Given the description of an element on the screen output the (x, y) to click on. 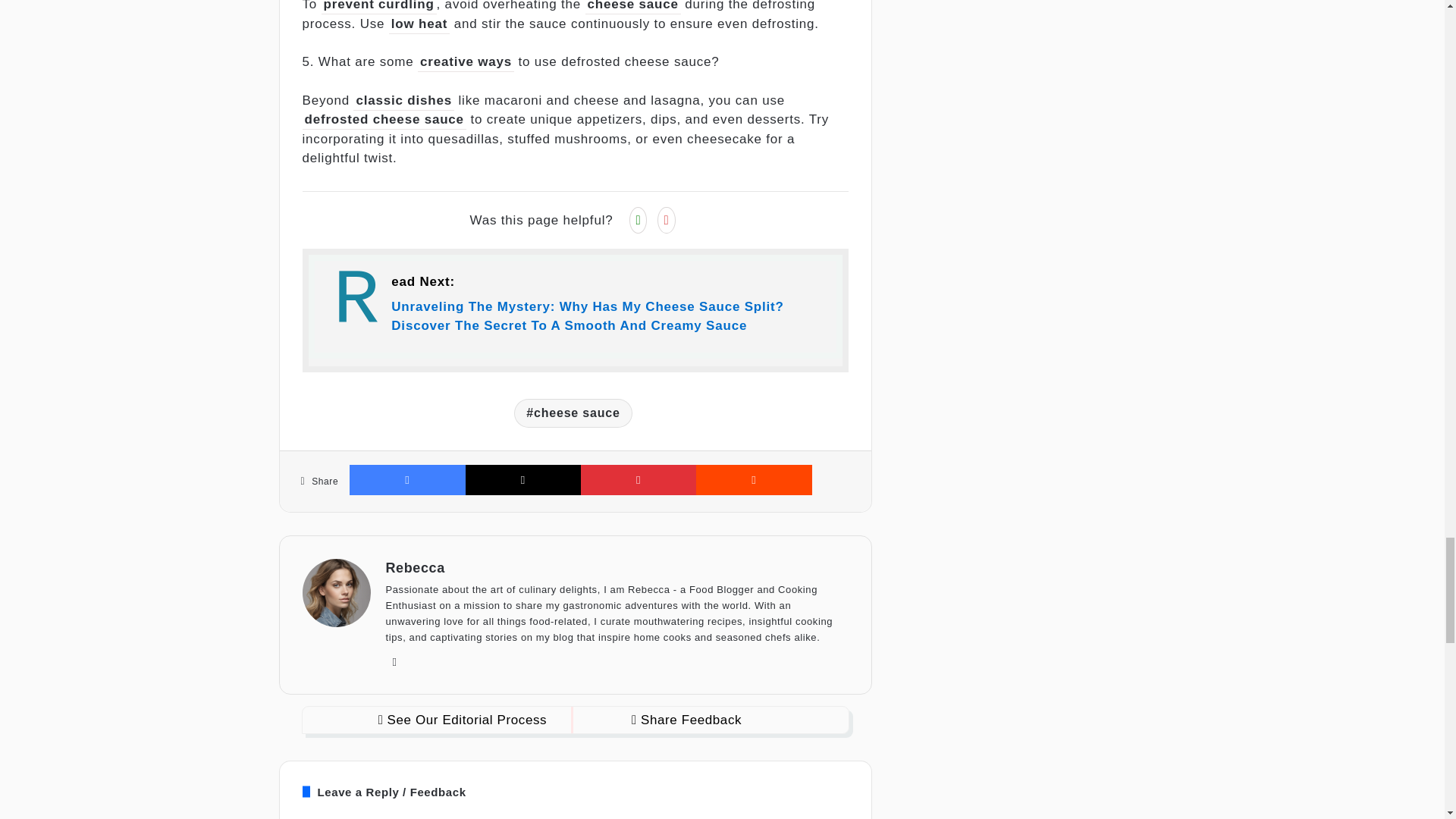
cheese sauce (572, 412)
Reddit (752, 480)
Pinterest (637, 480)
Facebook (406, 480)
X (522, 480)
